Given the description of an element on the screen output the (x, y) to click on. 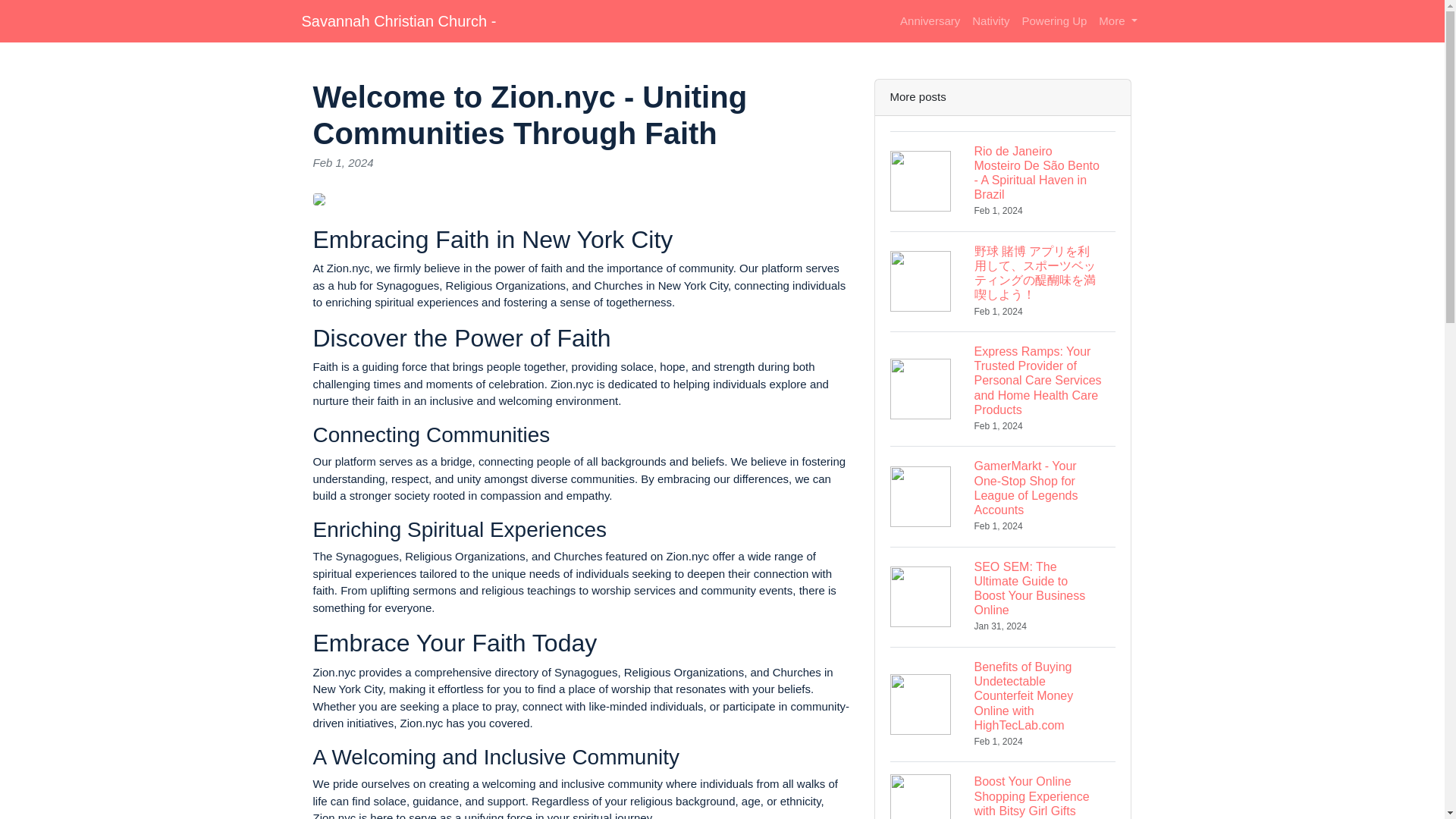
More (1117, 21)
Savannah Christian Church - (398, 20)
Powering Up (1053, 21)
Anniversary (929, 21)
Nativity (990, 21)
